Given the description of an element on the screen output the (x, y) to click on. 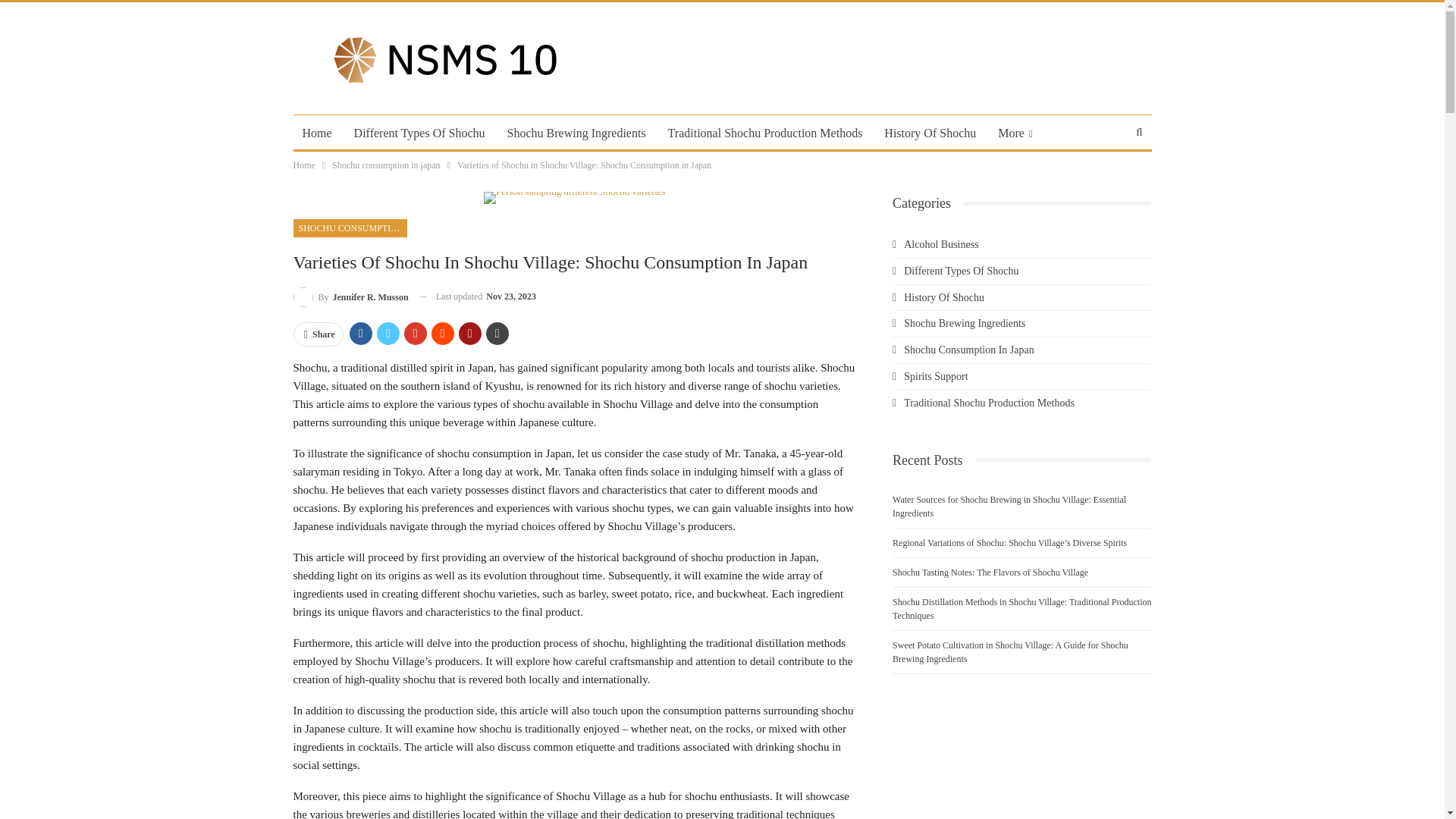
Different Types Of Shochu (420, 133)
SHOCHU CONSUMPTION IN JAPAN (349, 228)
Browse Author Articles (349, 296)
More (1014, 133)
Shochu consumption in japan (385, 165)
By Jennifer R. Musson (349, 296)
Home (316, 133)
Shochu Brewing Ingredients (576, 133)
Traditional Shochu Production Methods (765, 133)
History Of Shochu (930, 133)
Home (303, 165)
